Given the description of an element on the screen output the (x, y) to click on. 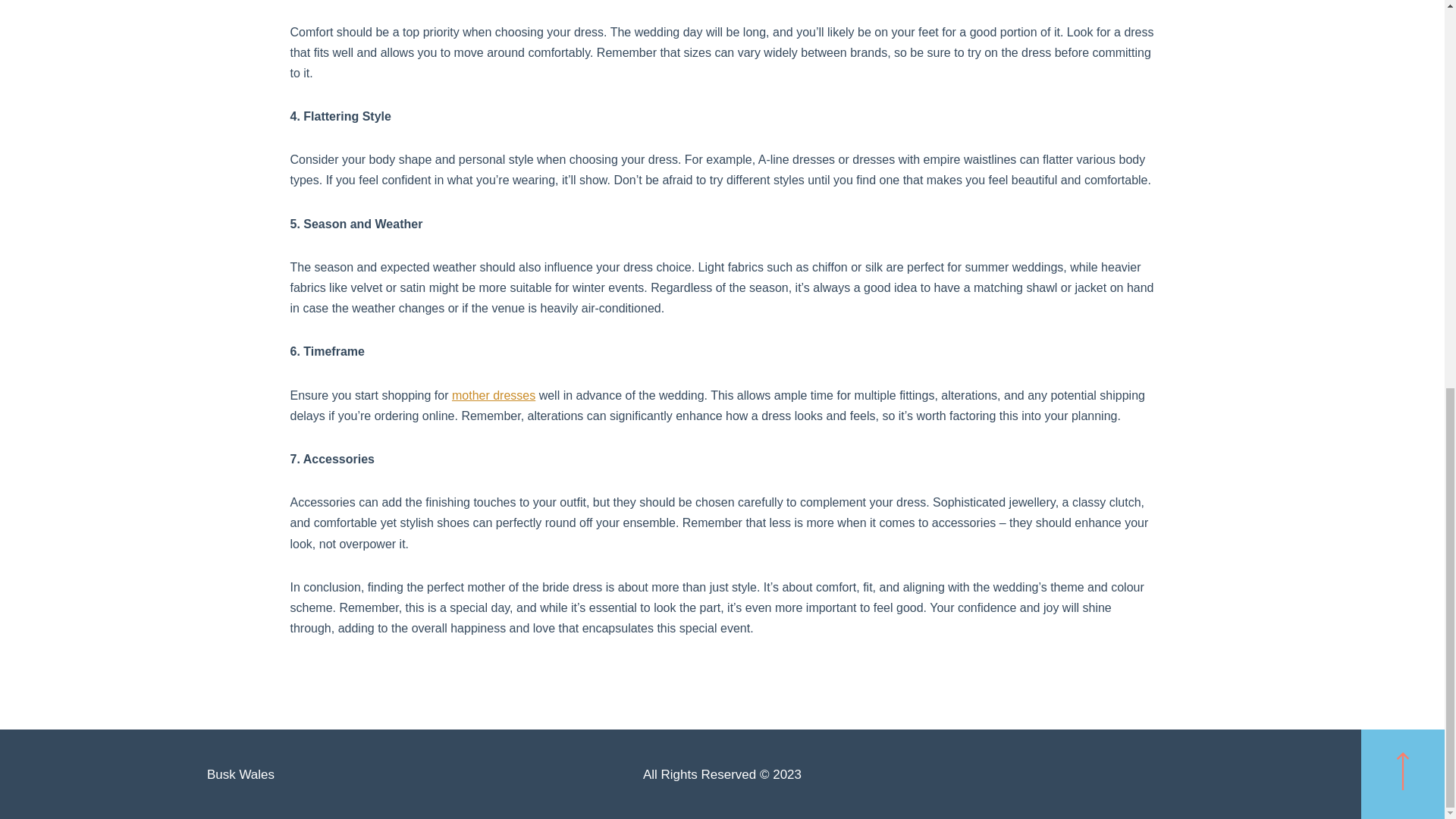
mother dresses (493, 395)
